Given the description of an element on the screen output the (x, y) to click on. 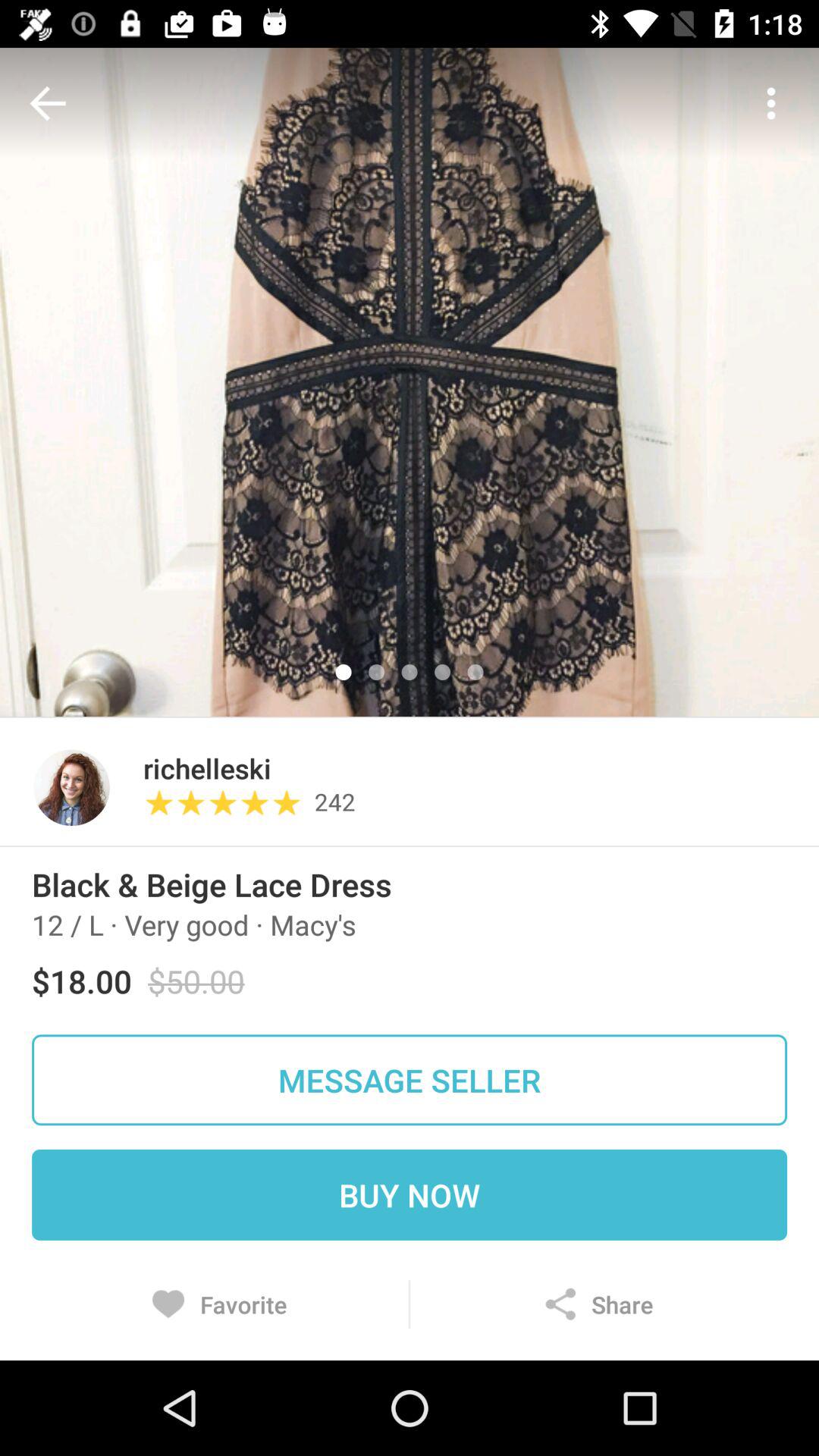
turn on the icon to the left of the richelleski (71, 787)
